Given the description of an element on the screen output the (x, y) to click on. 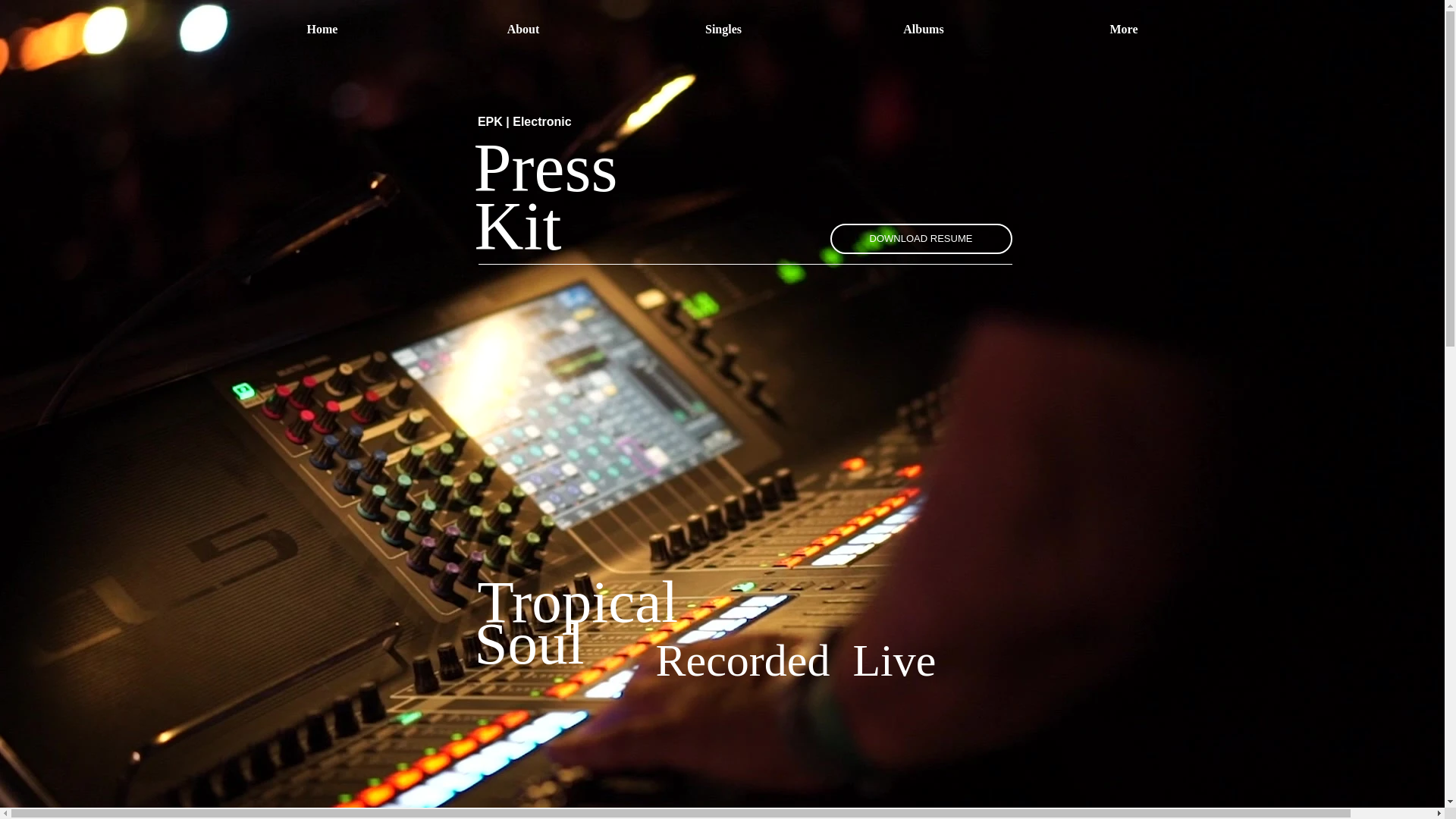
Singles (723, 29)
Home (321, 29)
Albums (923, 29)
About (523, 29)
DOWNLOAD RESUME (920, 238)
